Given the description of an element on the screen output the (x, y) to click on. 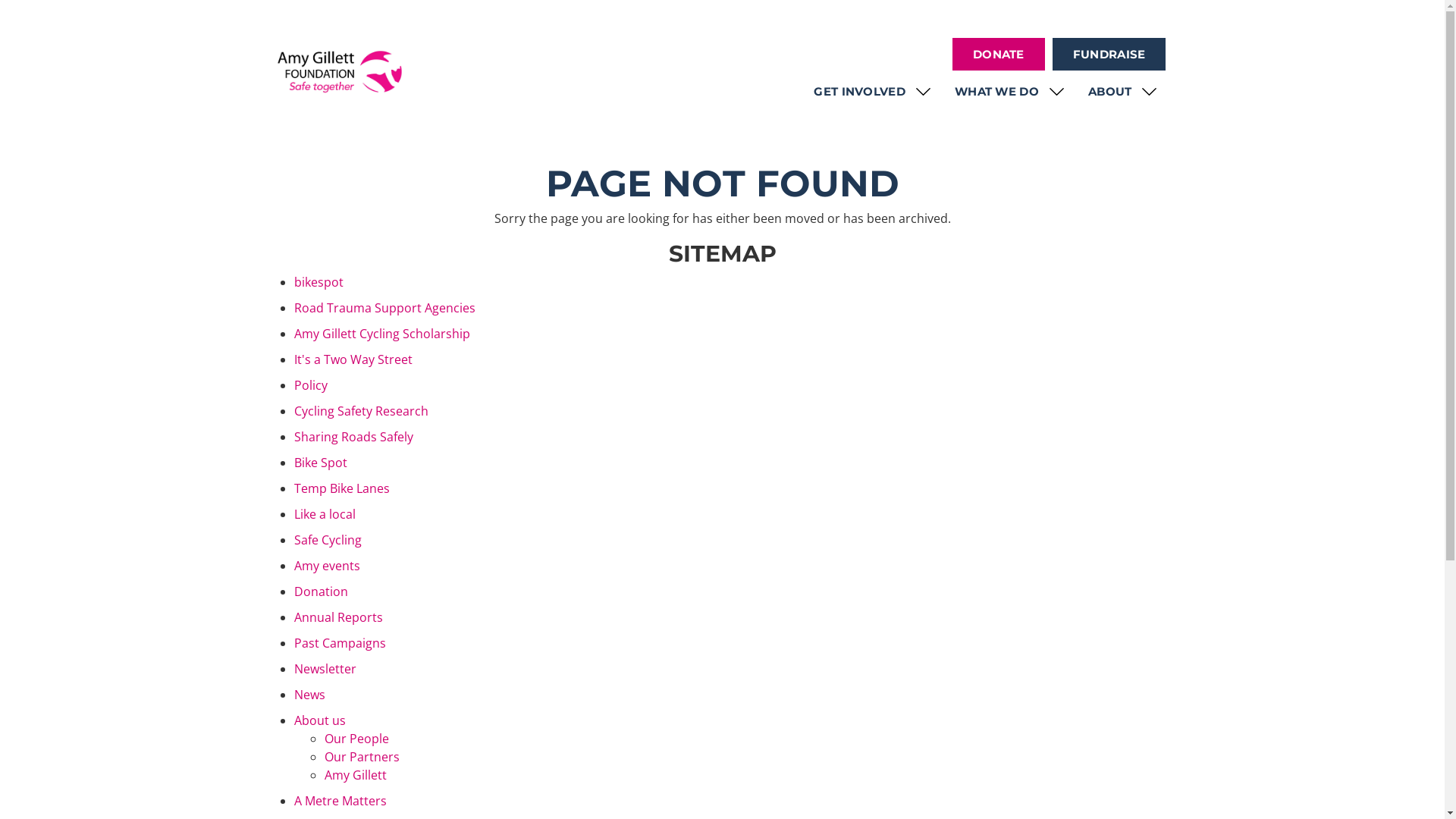
It's a Two Way Street Element type: text (353, 359)
GET INVOLVED Element type: text (872, 91)
About us Element type: text (319, 720)
Policy Element type: text (310, 384)
Like a local Element type: text (324, 513)
Sharing Roads Safely Element type: text (353, 436)
Amy events Element type: text (327, 565)
Our Partners Element type: text (361, 756)
Annual Reports Element type: text (338, 616)
bikespot Element type: text (318, 281)
A Metre Matters Element type: text (340, 800)
Amy Gillett Cycling Scholarship Element type: text (382, 333)
Newsletter Element type: text (325, 668)
News Element type: text (309, 694)
WHAT WE DO Element type: text (1009, 91)
Donation Element type: text (321, 591)
Road Trauma Support Agencies Element type: text (384, 307)
DONATE Element type: text (998, 53)
Bike Spot Element type: text (320, 462)
Safe Cycling Element type: text (327, 539)
FUNDRAISE Element type: text (1109, 53)
ABOUT Element type: text (1123, 91)
Cycling Safety Research Element type: text (361, 410)
Past Campaigns Element type: text (339, 642)
Amy Gillett Element type: text (355, 774)
Our People Element type: text (356, 738)
Temp Bike Lanes Element type: text (341, 488)
